Given the description of an element on the screen output the (x, y) to click on. 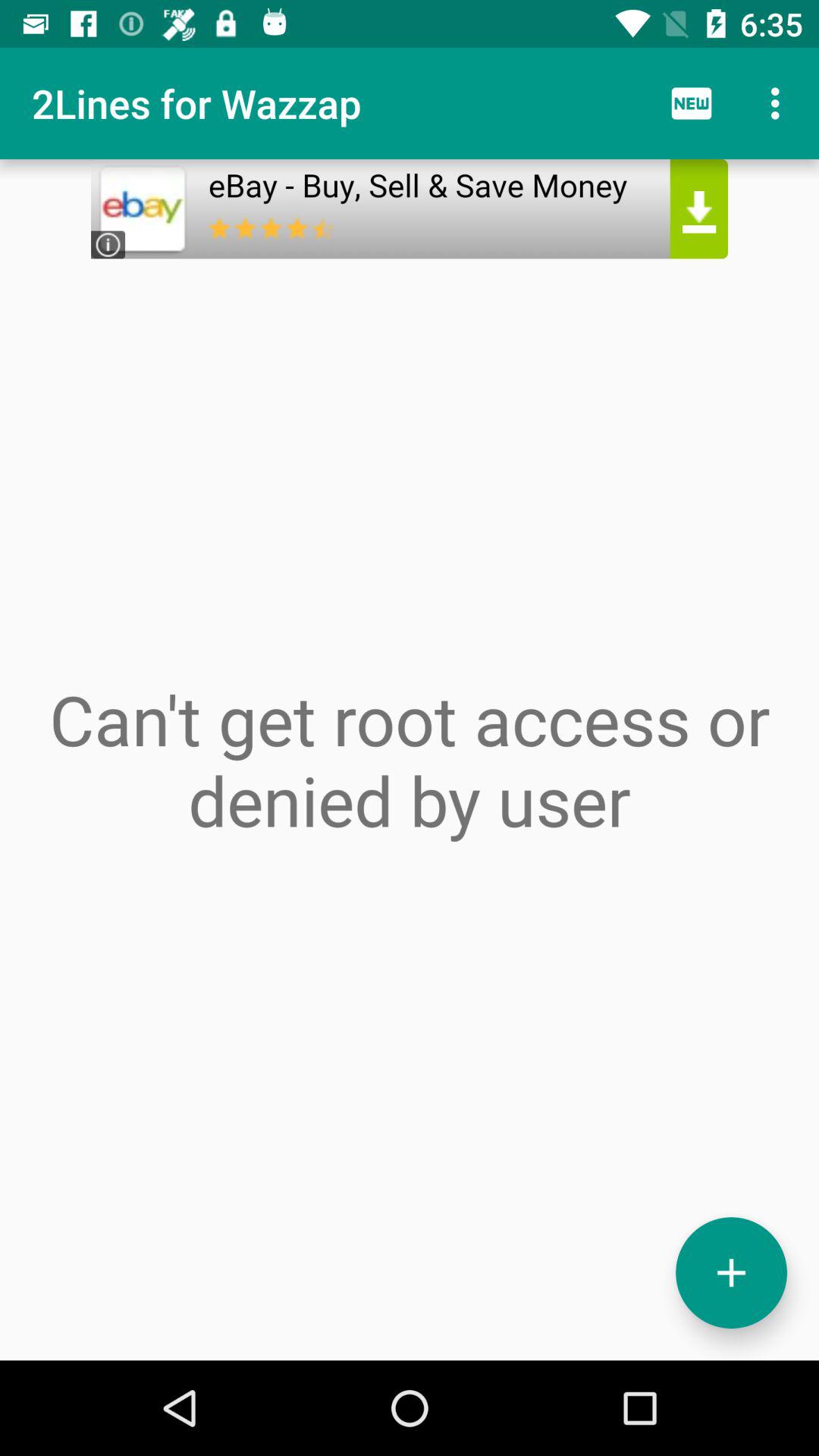
press the item at the center (409, 759)
